Given the description of an element on the screen output the (x, y) to click on. 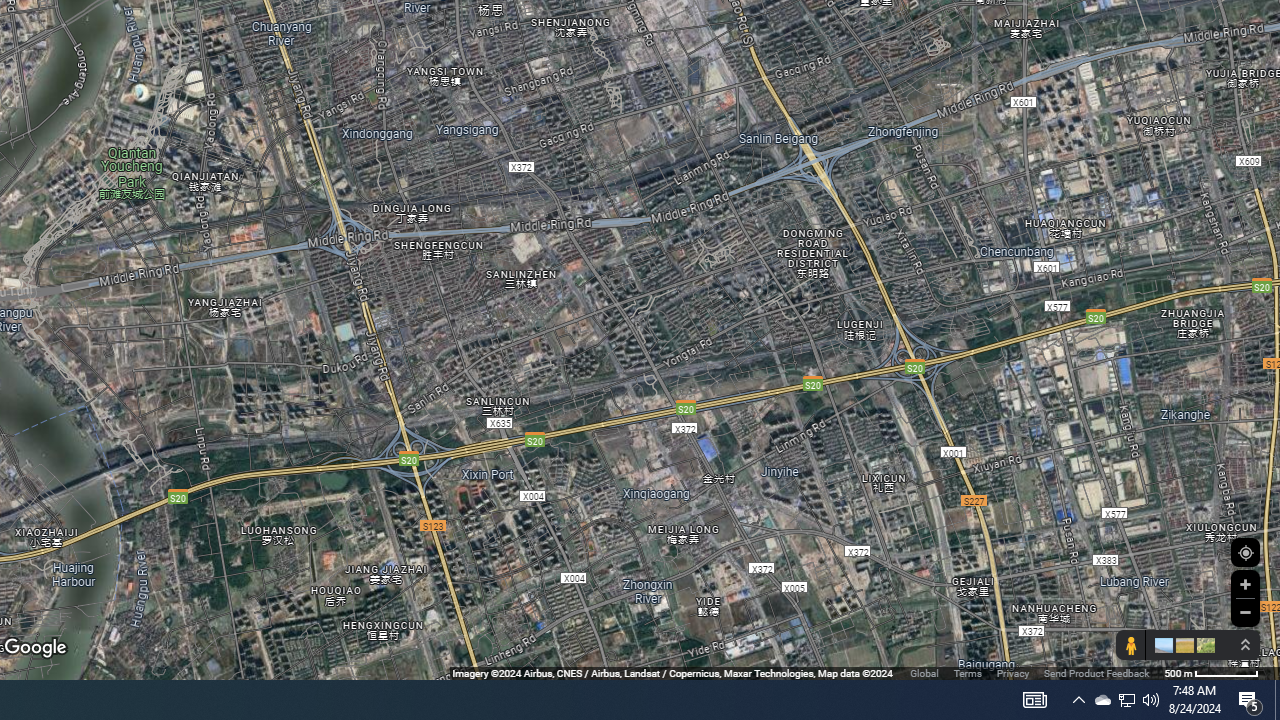
Global (924, 672)
500 m (1211, 672)
Zoom in (1245, 584)
Zoom out (1245, 612)
Show Your Location (1245, 552)
Show Street View coverage (1130, 645)
Show imagery (1202, 645)
Send Product Feedback (1096, 672)
